Given the description of an element on the screen output the (x, y) to click on. 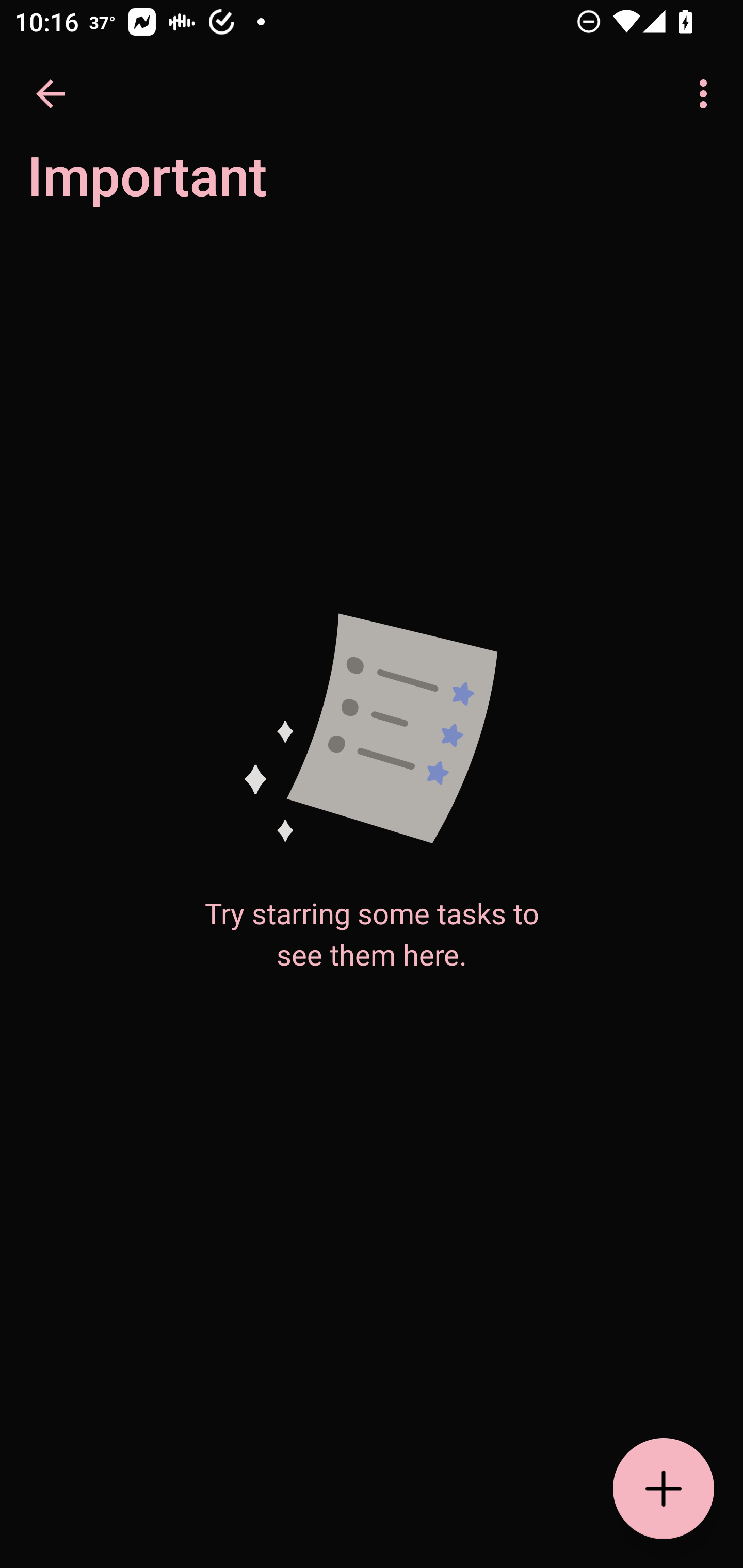
Back (50, 93)
More options (706, 93)
My Day, 0 tasks (182, 187)
Add a task (663, 1488)
